Given the description of an element on the screen output the (x, y) to click on. 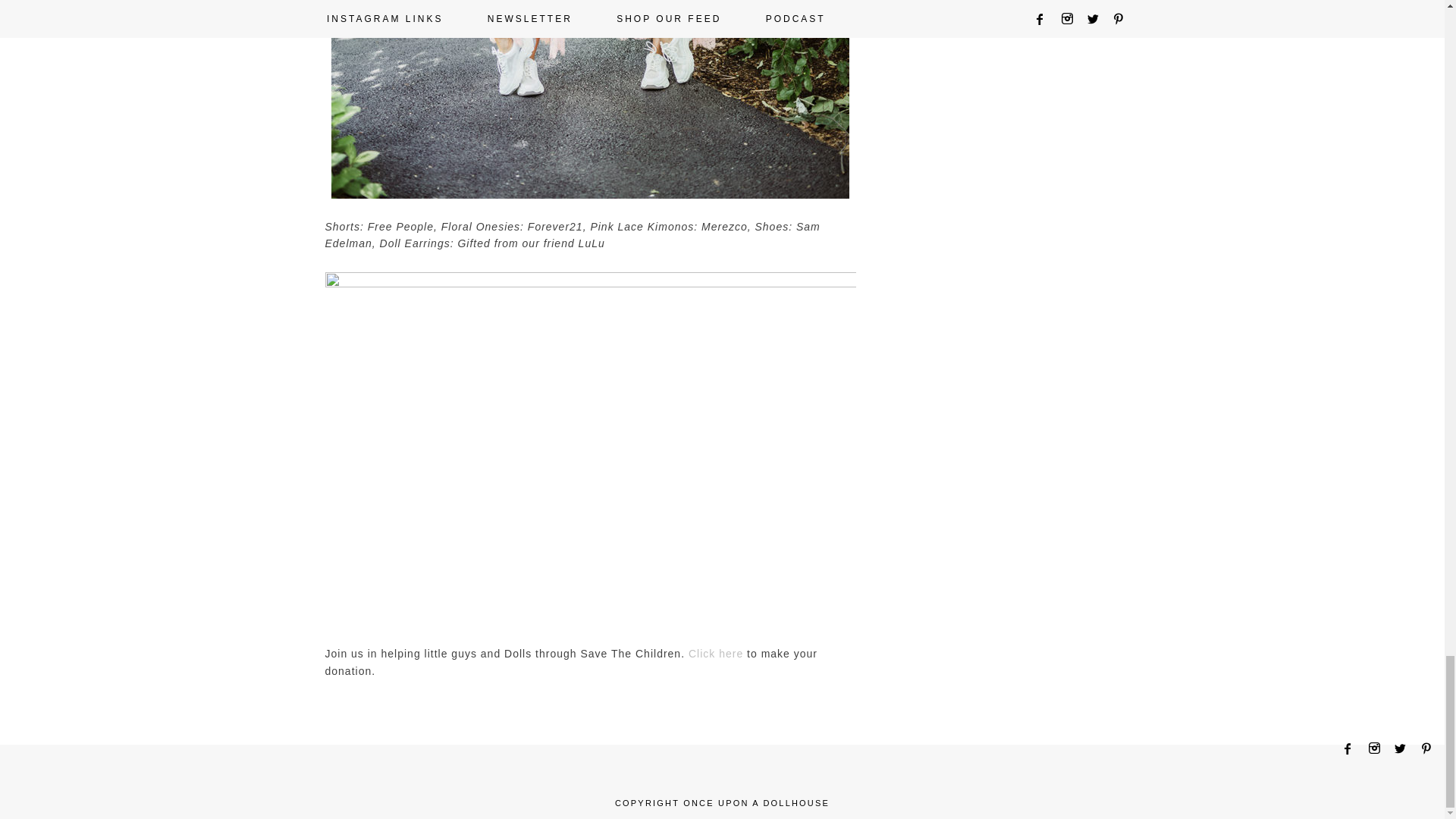
Instagram (1379, 748)
Twitter (1404, 748)
Click here (715, 653)
ONCE UPON A DOLLHOUSE (755, 802)
